Given the description of an element on the screen output the (x, y) to click on. 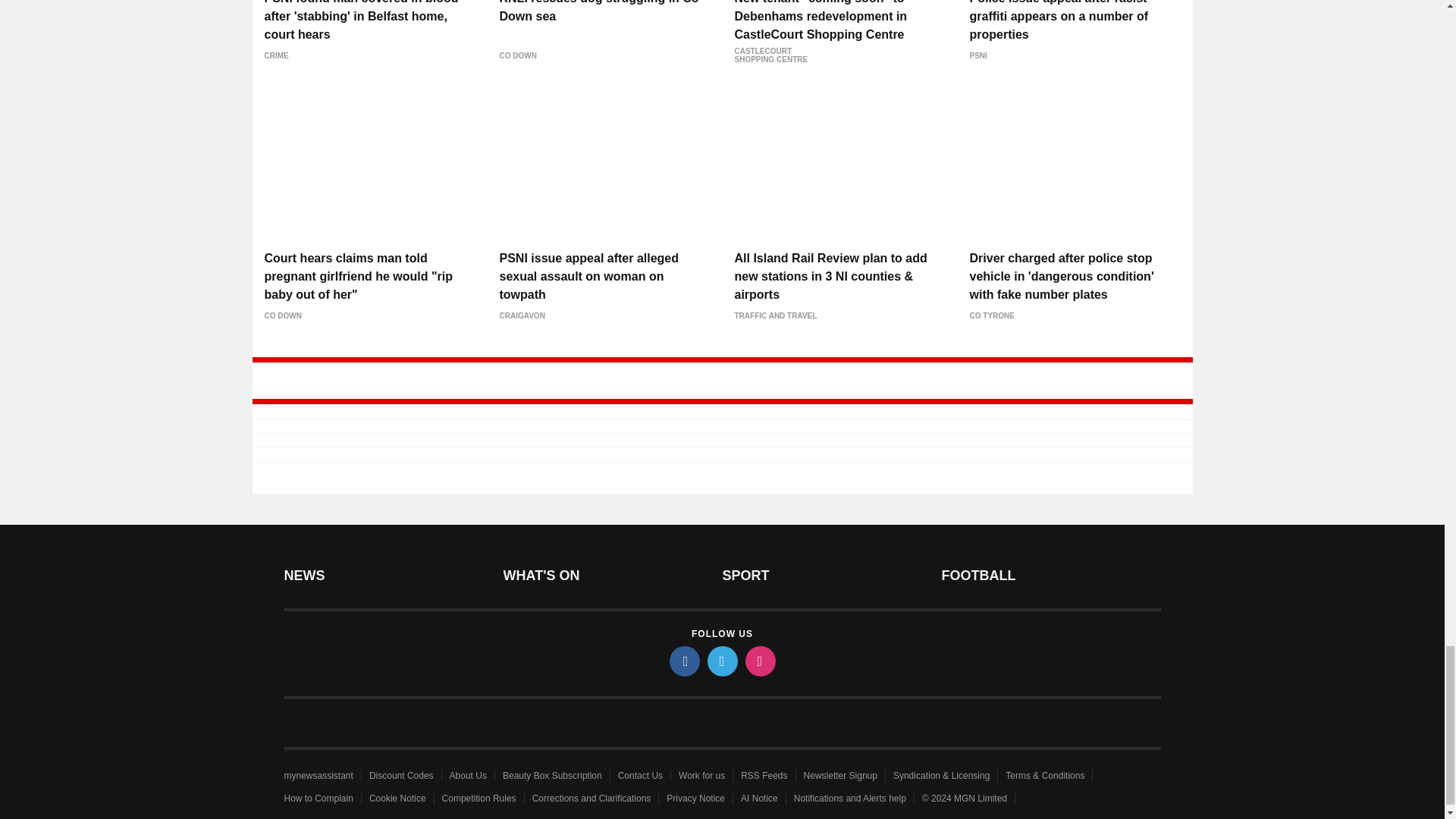
facebook (683, 661)
instagram (759, 661)
twitter (721, 661)
